Given the description of an element on the screen output the (x, y) to click on. 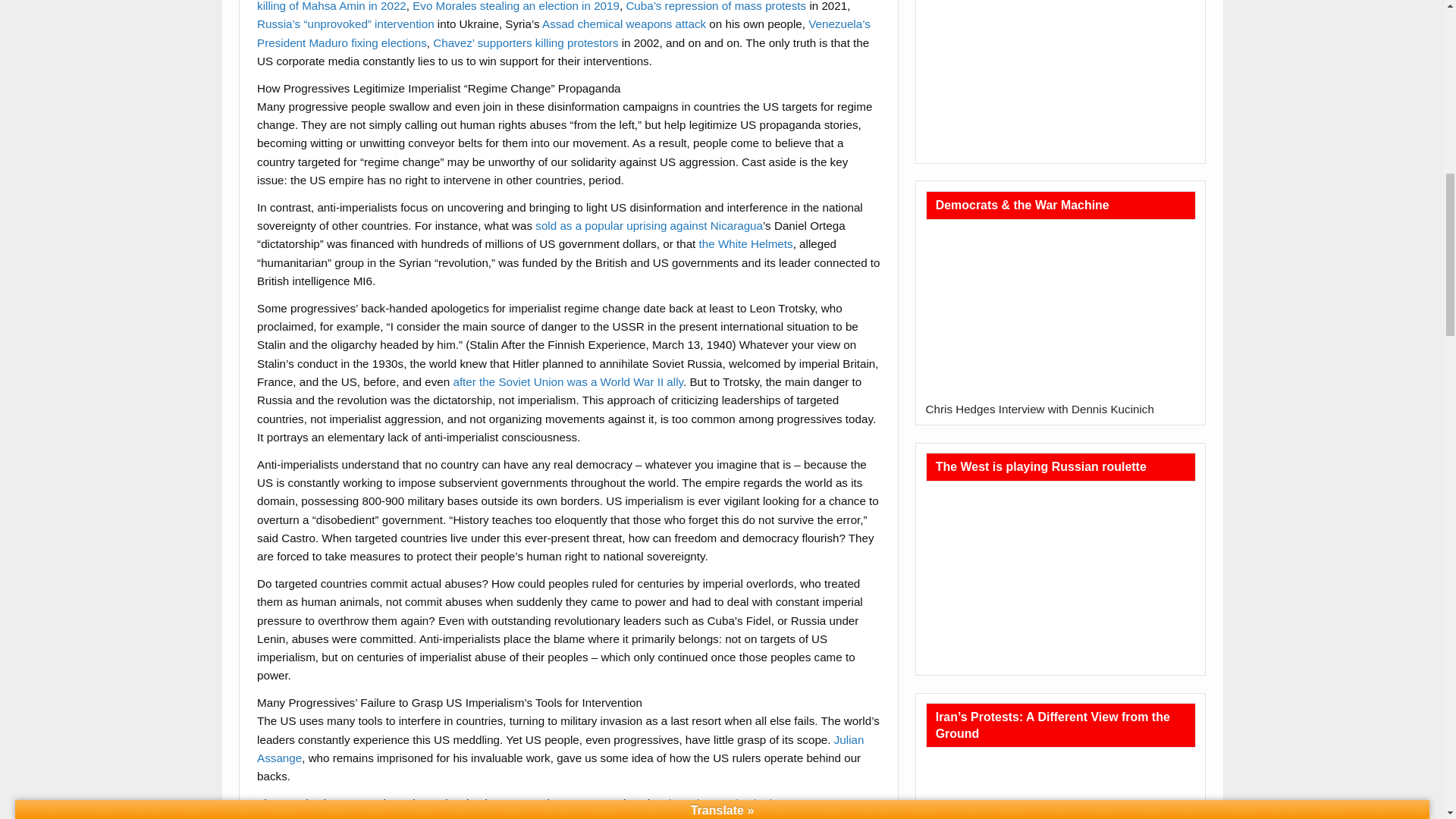
the White Helmets (745, 243)
Evo Morales stealing an election in 2019 (516, 6)
Assad chemical weapons attack (623, 23)
after the Soviet Union was a World War II ally (565, 381)
Julian Assange (560, 748)
in Latin America in the 21st century (757, 802)
sold as a popular uprising against Nicaragua (648, 225)
